Given the description of an element on the screen output the (x, y) to click on. 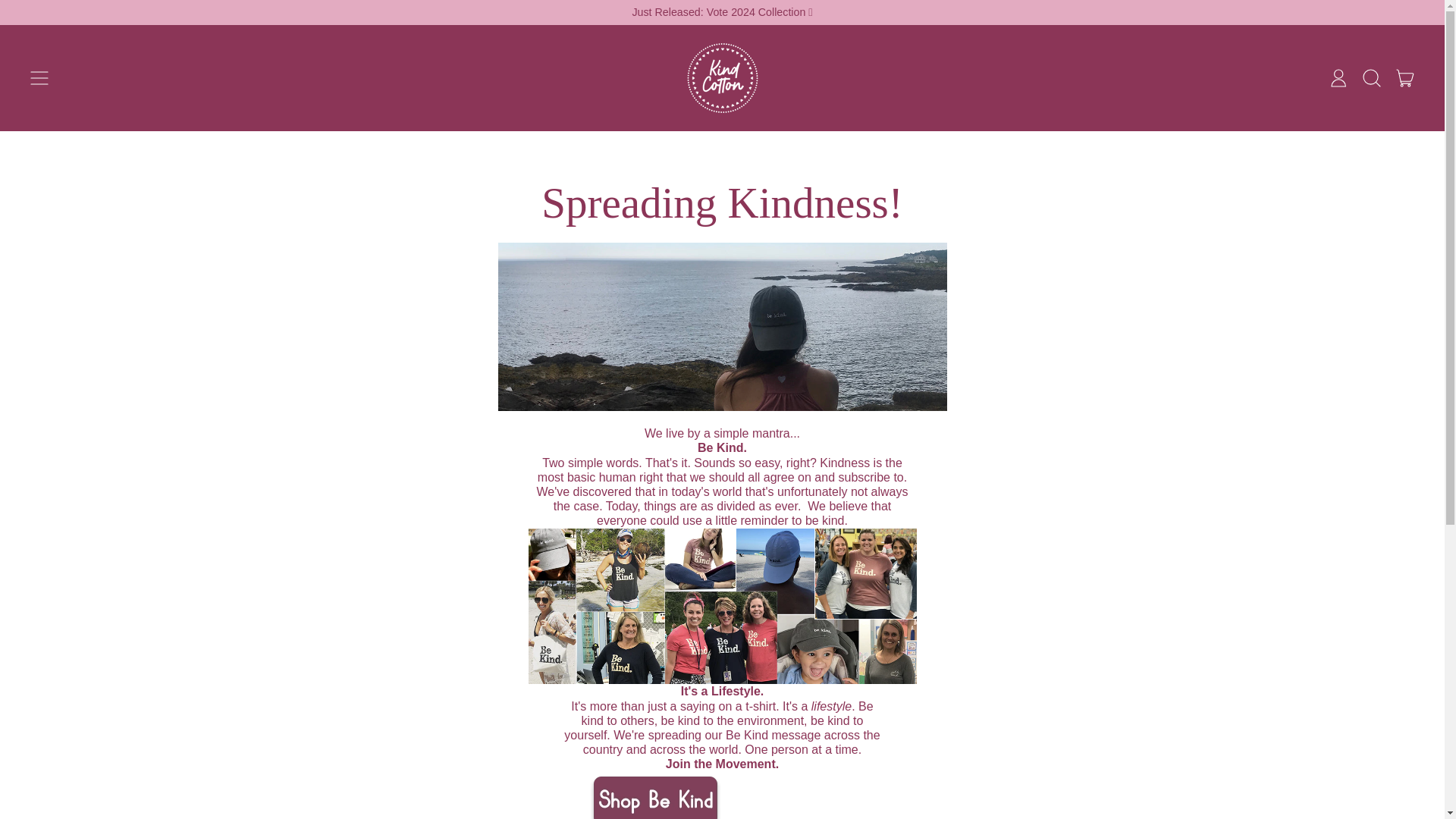
Log in (1405, 78)
Menu (1338, 78)
Search our site (38, 78)
